Given the description of an element on the screen output the (x, y) to click on. 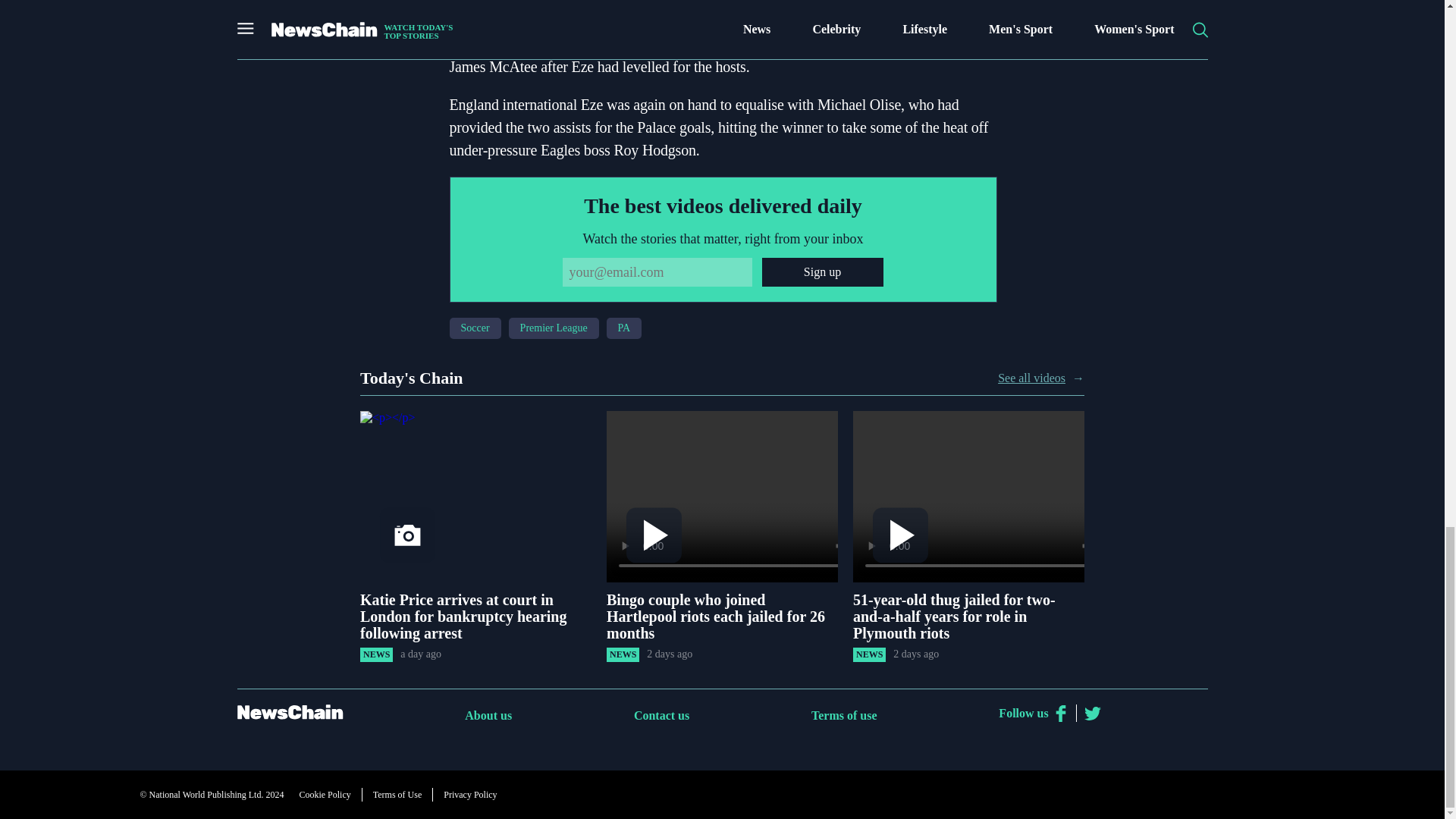
Sign up (822, 271)
NEWS (623, 654)
Sign up (822, 271)
NEWS (869, 654)
Soccer (474, 328)
Premier League (553, 328)
